Given the description of an element on the screen output the (x, y) to click on. 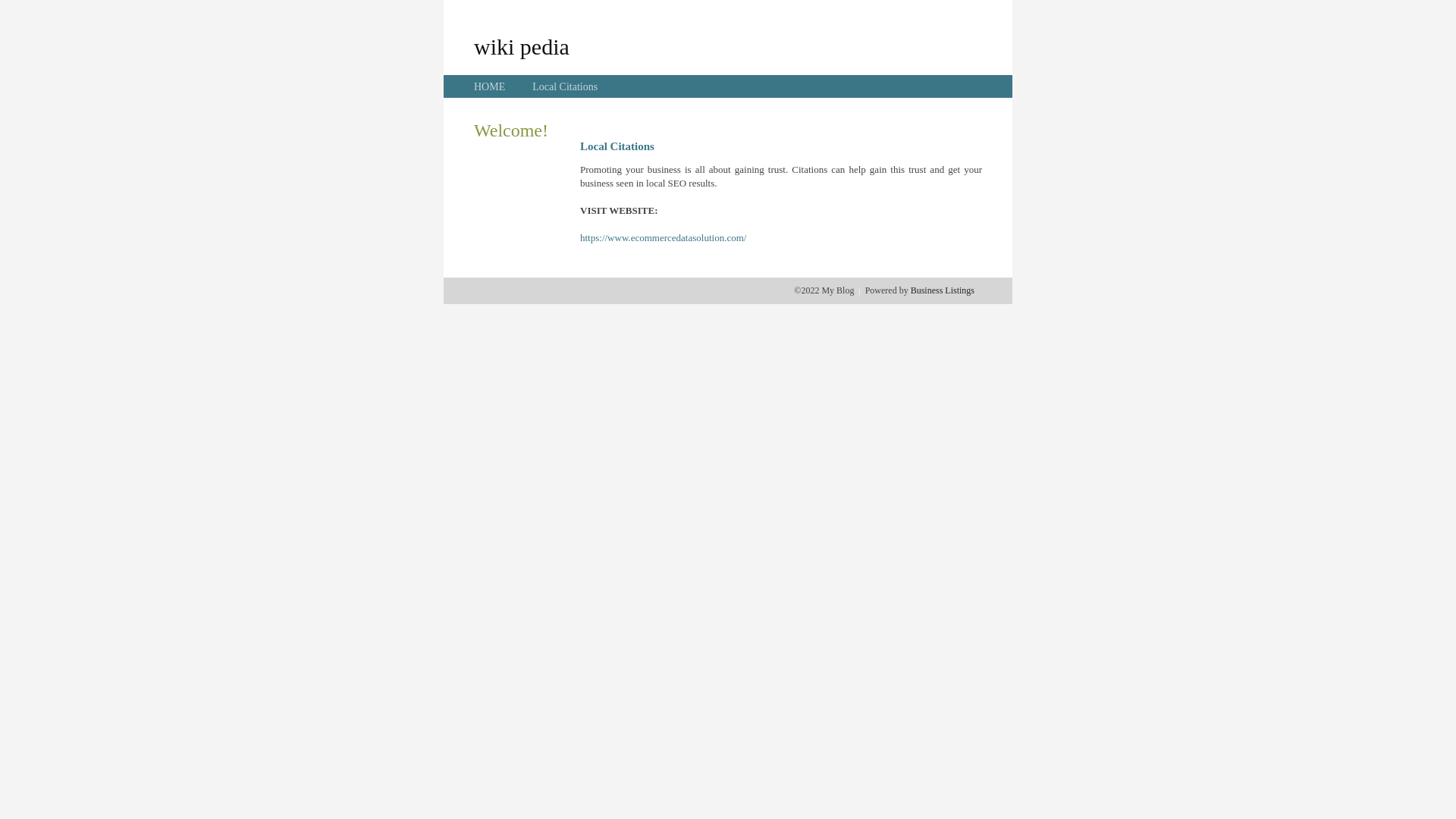
HOME Element type: text (489, 86)
Business Listings Element type: text (942, 290)
wiki pedia Element type: text (521, 46)
https://www.ecommercedatasolution.com/ Element type: text (663, 237)
Local Citations Element type: text (564, 86)
